Given the description of an element on the screen output the (x, y) to click on. 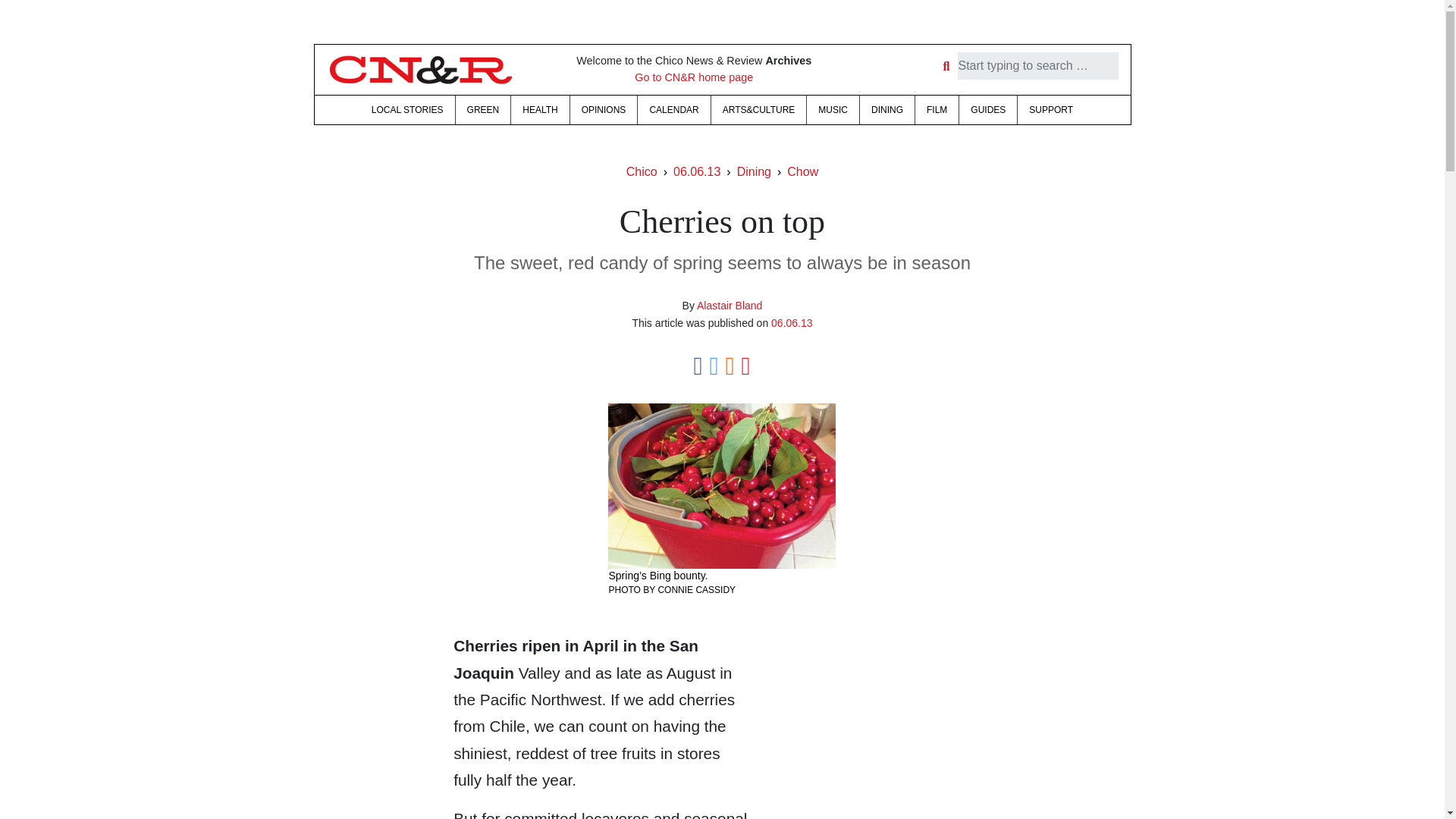
HEALTH (540, 109)
06.06.13 (696, 171)
FILM (936, 109)
Alastair Bland (729, 305)
CALENDAR (673, 109)
Dining (753, 171)
3rd party ad content (876, 730)
LOCAL STORIES (406, 109)
DINING (887, 109)
SUPPORT (1050, 109)
